Given the description of an element on the screen output the (x, y) to click on. 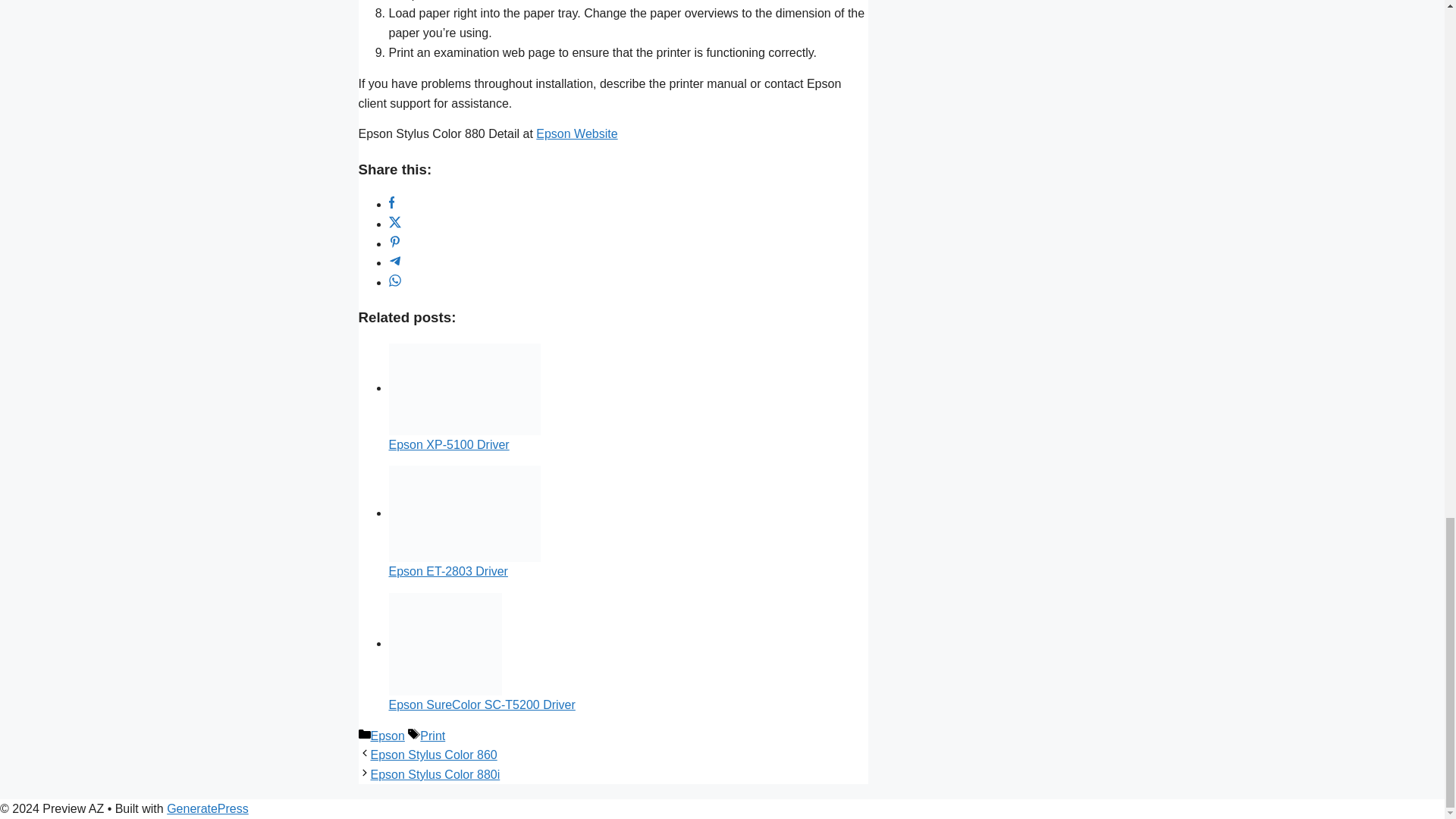
GeneratePress (207, 808)
Epson ET-2803 Driver (447, 571)
Print (432, 735)
Epson Website (576, 133)
Epson Website (576, 133)
Telegram Share (394, 262)
Epson XP-5100 Driver (448, 444)
Permalink to: Epson XP-5100 Driver (464, 387)
Epson Stylus Color 880i (434, 774)
Permalink to: Epson XP-5100 Driver (448, 444)
